Given the description of an element on the screen output the (x, y) to click on. 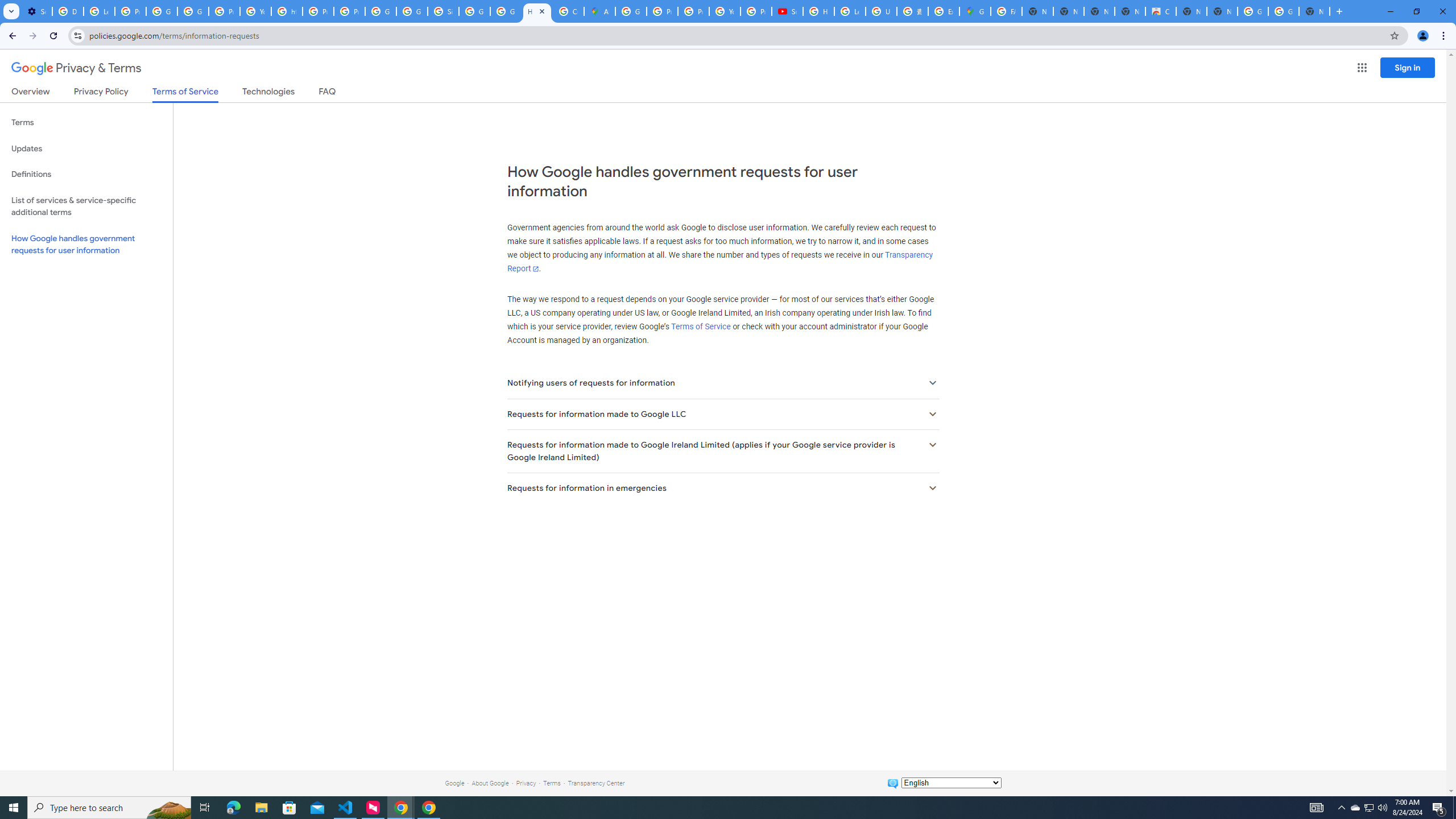
Google Account Help (161, 11)
Transparency Center (595, 783)
Explore new street-level details - Google Maps Help (943, 11)
Google Images (1252, 11)
Subscriptions - YouTube (787, 11)
Create your Google Account (568, 11)
New Tab (1314, 11)
